Given the description of an element on the screen output the (x, y) to click on. 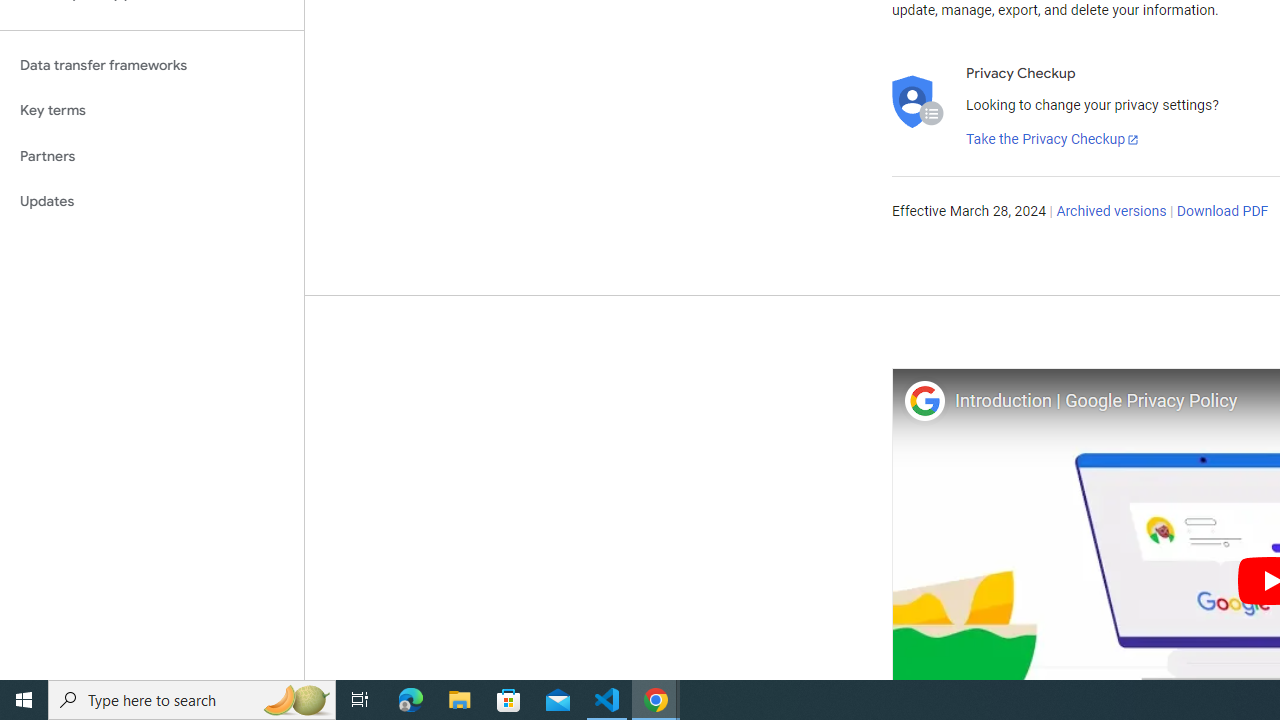
Archived versions (1111, 212)
Download PDF (1222, 212)
Photo image of Google (924, 400)
Take the Privacy Checkup (1053, 140)
